Given the description of an element on the screen output the (x, y) to click on. 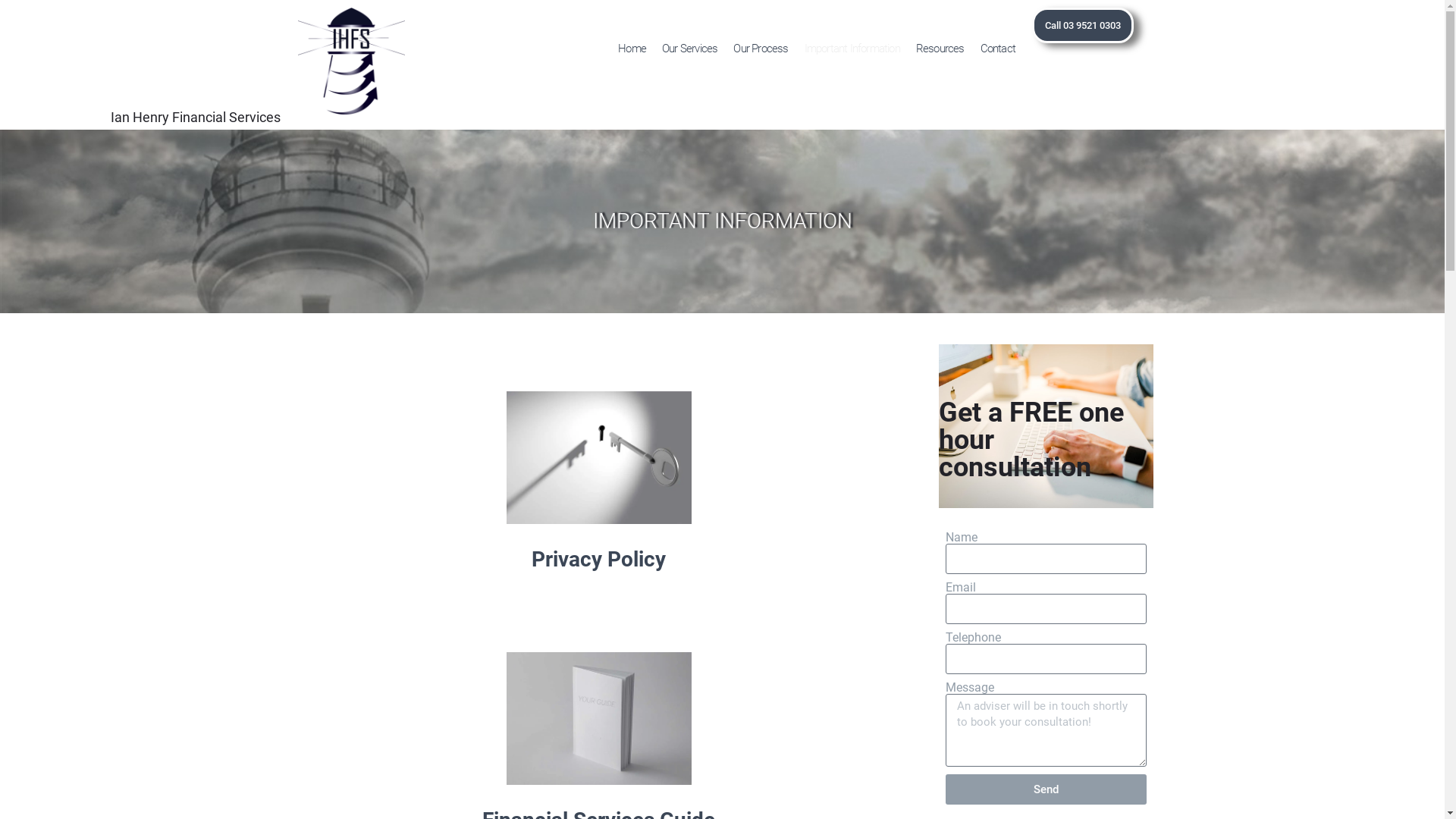
Call 03 9521 0303 Element type: text (1082, 25)
Privacy Policy Element type: text (598, 558)
Home Element type: text (631, 48)
Our Services Element type: text (689, 48)
Send Element type: text (1045, 789)
Our Process Element type: text (760, 48)
Resources Element type: text (940, 48)
Important Information Element type: text (852, 48)
Contact Element type: text (997, 48)
